Given the description of an element on the screen output the (x, y) to click on. 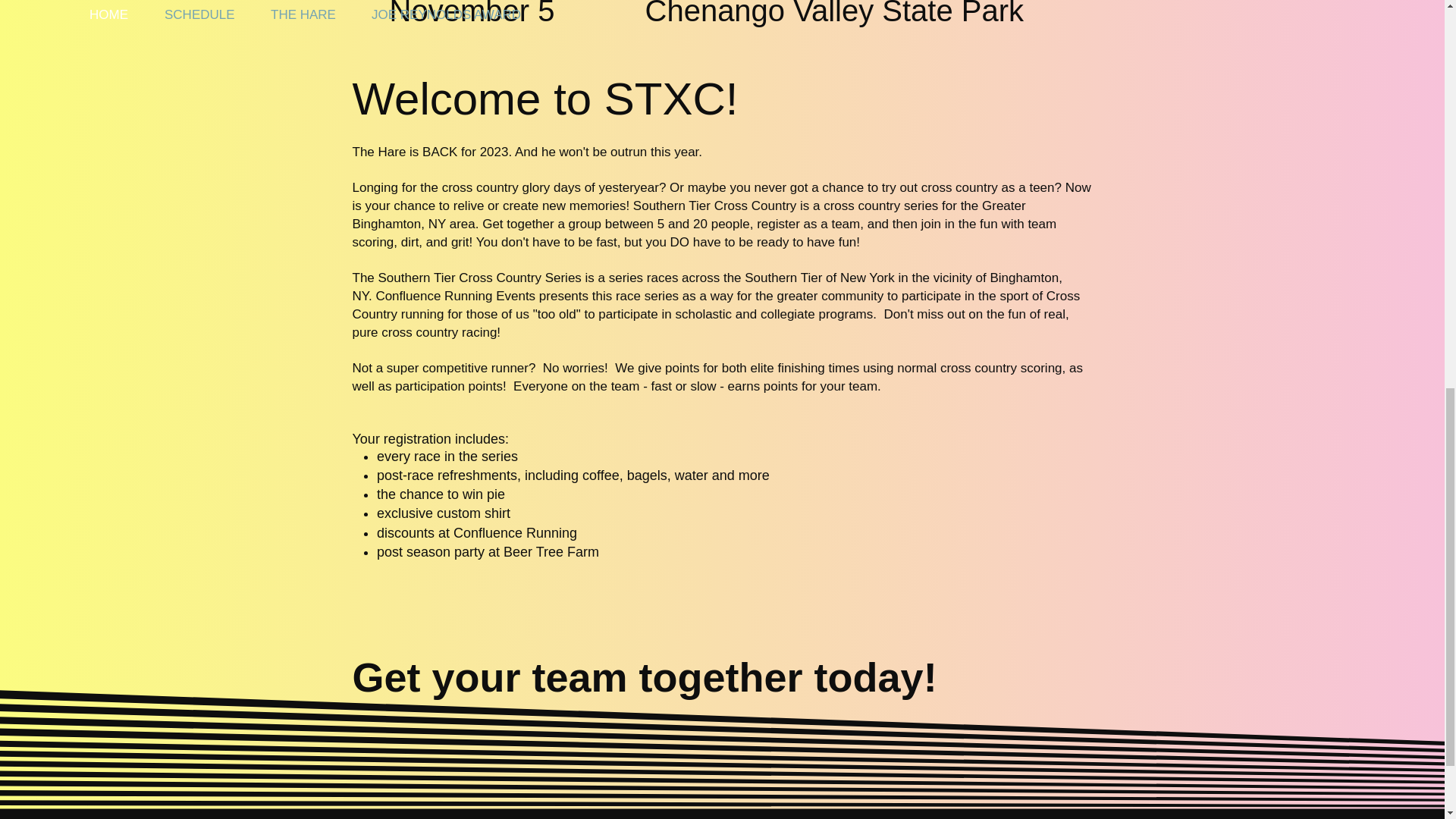
Confluence Running Events (455, 296)
